Given the description of an element on the screen output the (x, y) to click on. 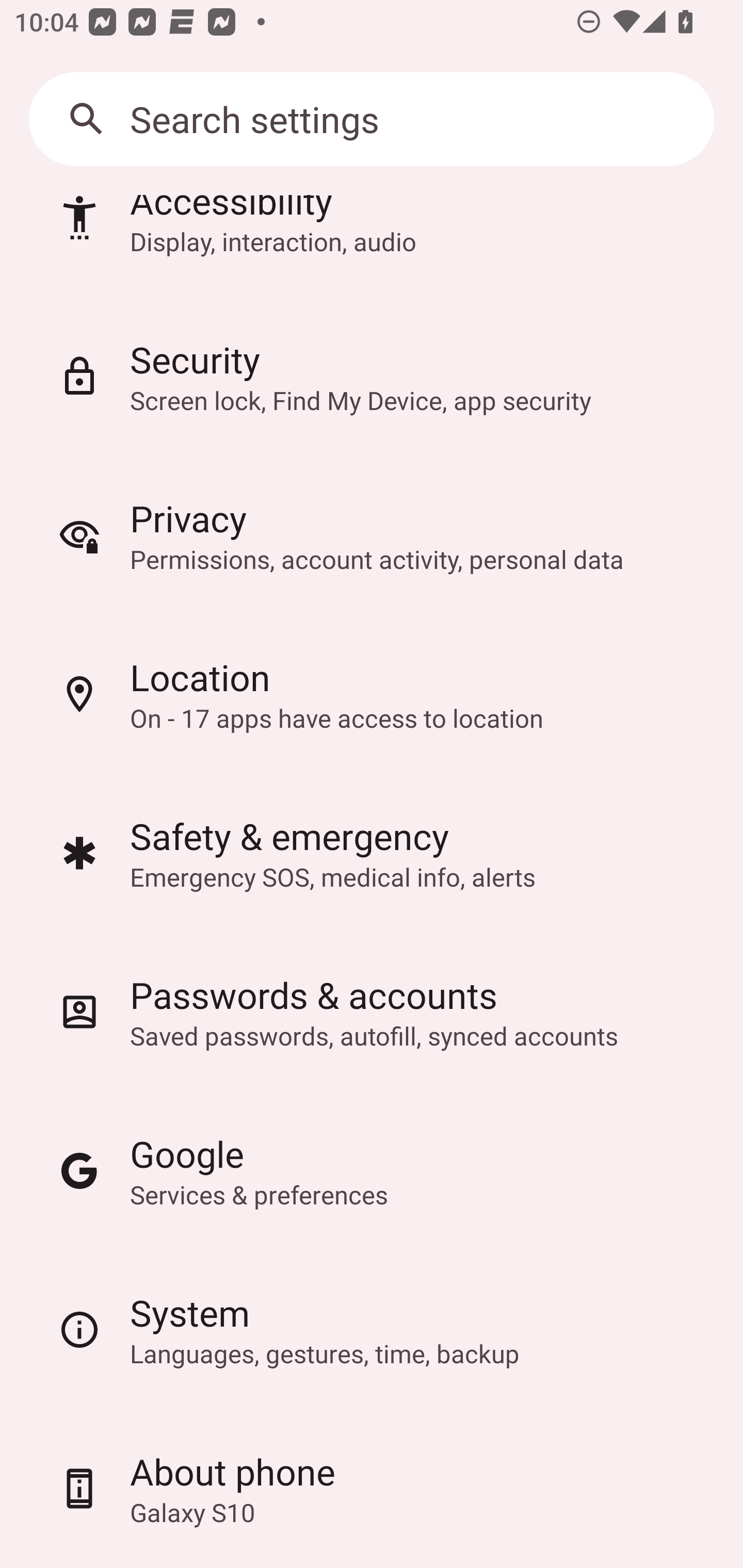
Search settings (371, 119)
Accessibility Display, interaction, audio (371, 245)
Security Screen lock, Find My Device, app security (371, 376)
Location On - 17 apps have access to location (371, 693)
Google Services & preferences (371, 1170)
System Languages, gestures, time, backup (371, 1329)
About phone Galaxy S10 (371, 1488)
